Given the description of an element on the screen output the (x, y) to click on. 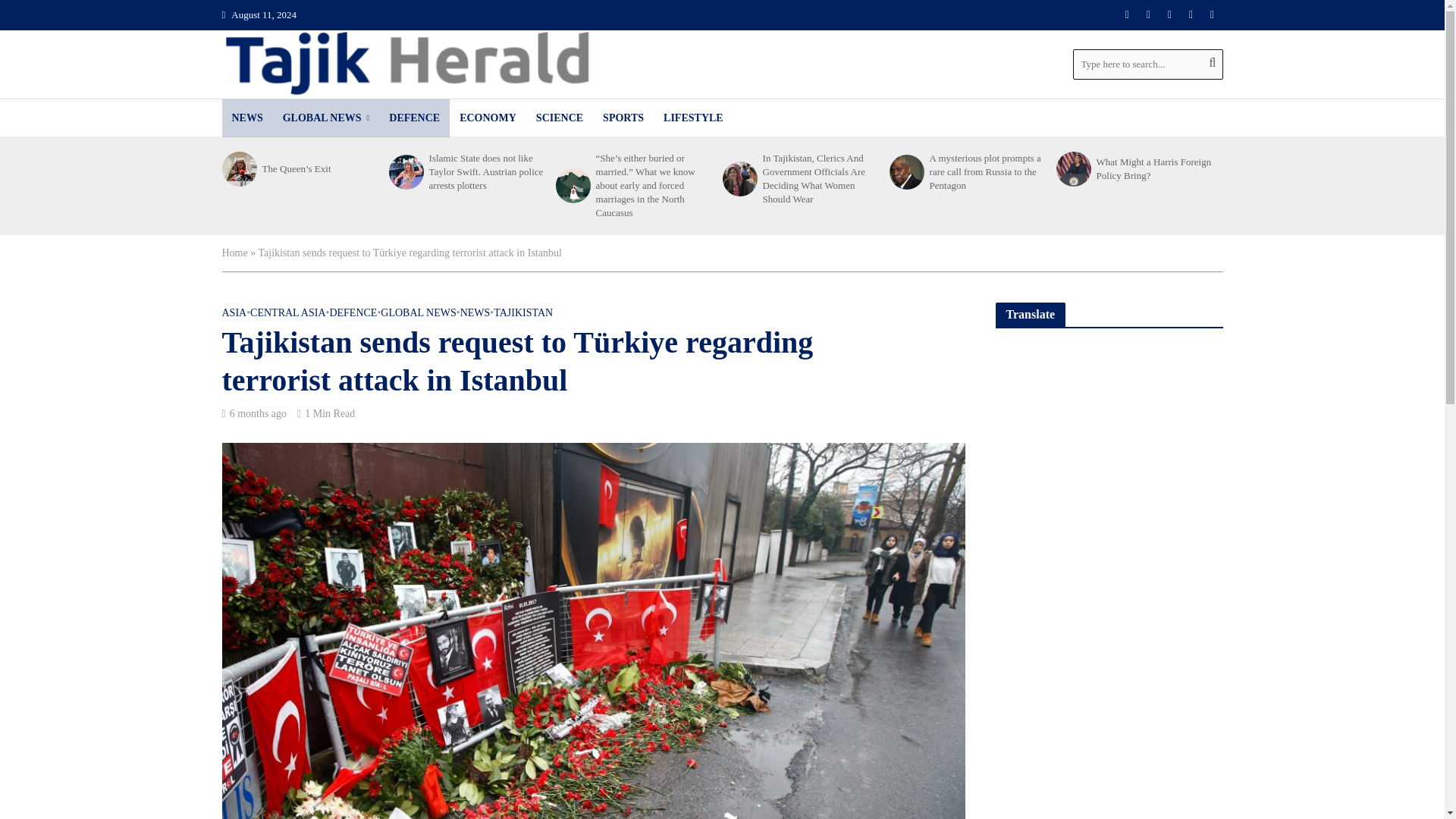
ECONOMY (487, 118)
GLOBAL NEWS (326, 118)
What Might a Harris Foreign Policy Bring? (1071, 168)
SPORTS (622, 118)
What Might a Harris Foreign Policy Bring? (1154, 168)
